Given the description of an element on the screen output the (x, y) to click on. 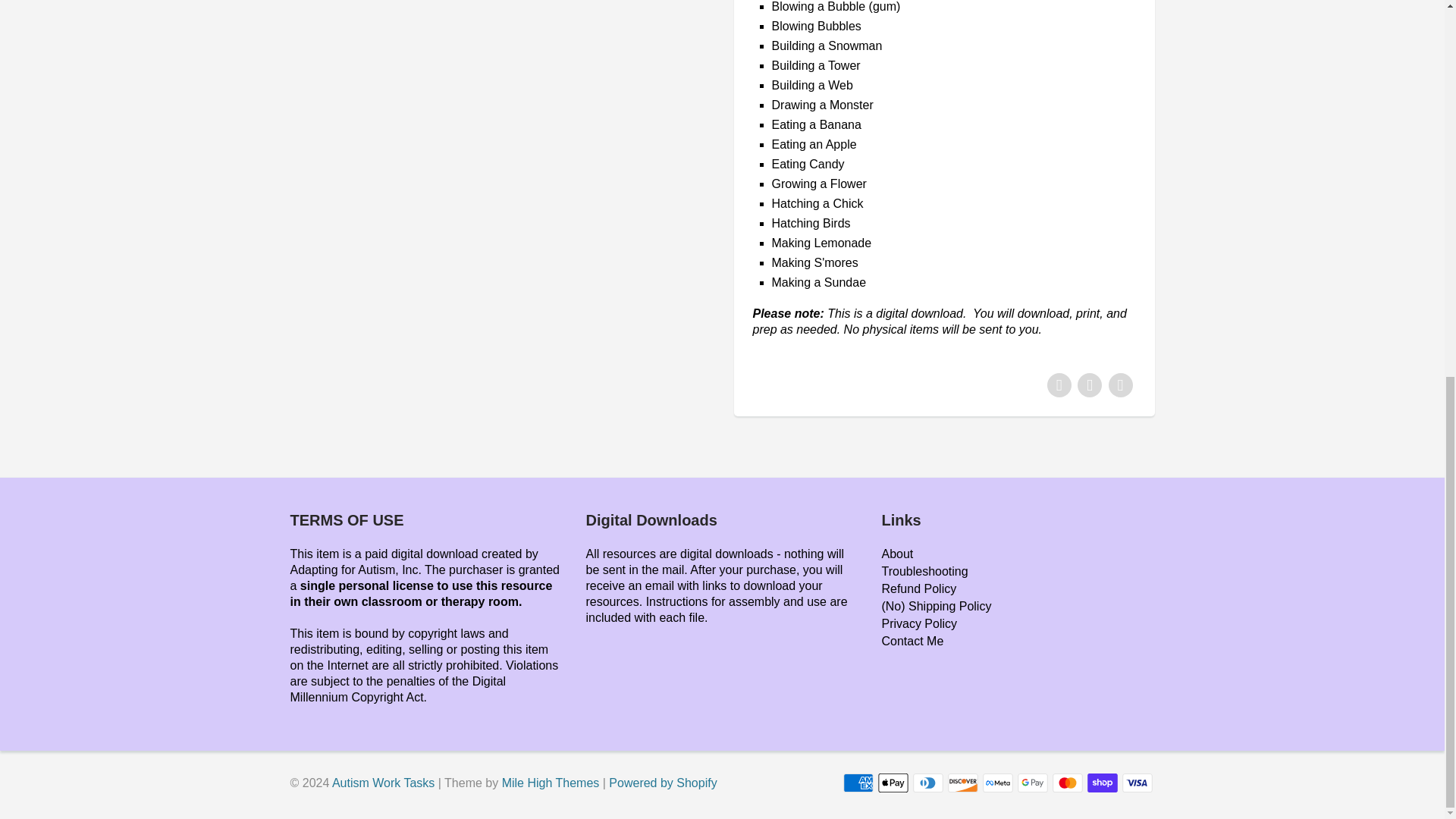
Discover (962, 782)
Apple Pay (892, 782)
Mastercard (1067, 782)
American Express (858, 782)
Google Pay (1032, 782)
Shop Pay (1102, 782)
Meta Pay (997, 782)
Diners Club (927, 782)
Visa (1137, 782)
